Given the description of an element on the screen output the (x, y) to click on. 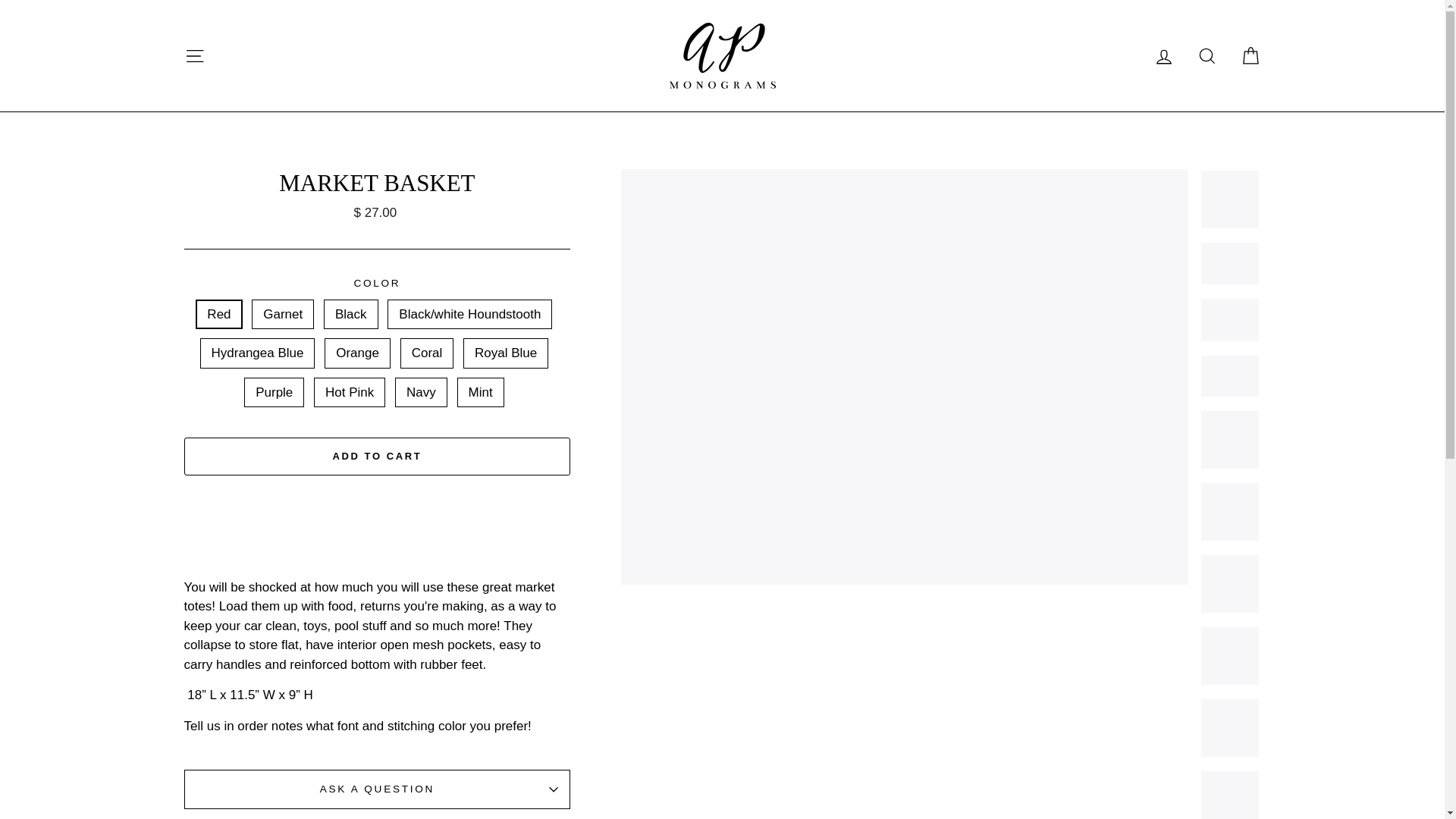
CART (1249, 55)
ADD TO CART (376, 456)
